Given the description of an element on the screen output the (x, y) to click on. 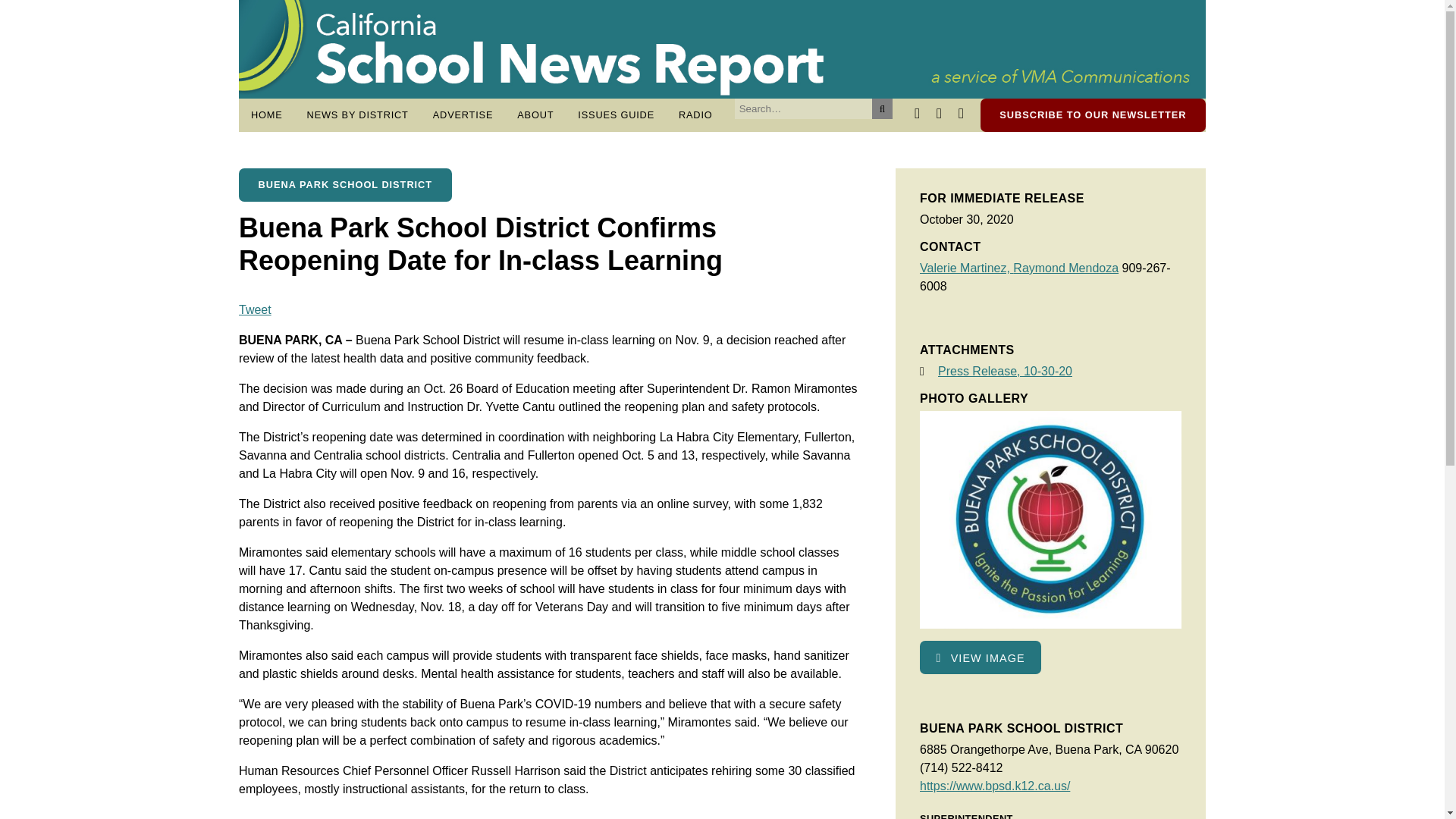
RADIO (695, 114)
NEWS BY DISTRICT (357, 114)
Search for: (803, 108)
HOME (266, 114)
ISSUES GUIDE (616, 114)
ABOUT (535, 114)
BUENA PARK SCHOOL DISTRICT (344, 184)
ADVERTISE (462, 114)
Tweet (254, 309)
News by District (357, 114)
